Given the description of an element on the screen output the (x, y) to click on. 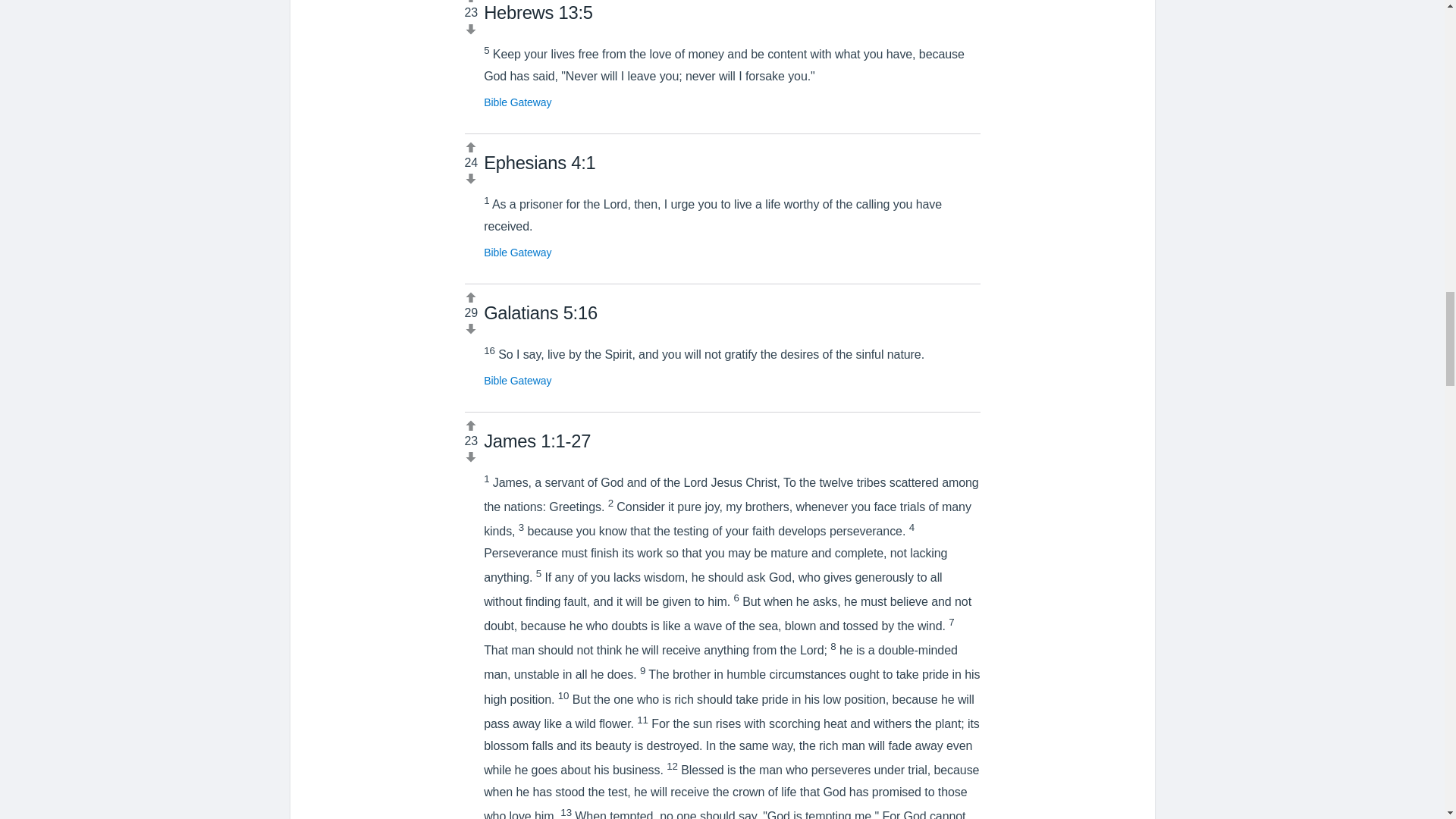
Bible Gateway (517, 252)
Bible Gateway (517, 380)
Bible Gateway (517, 102)
